Given the description of an element on the screen output the (x, y) to click on. 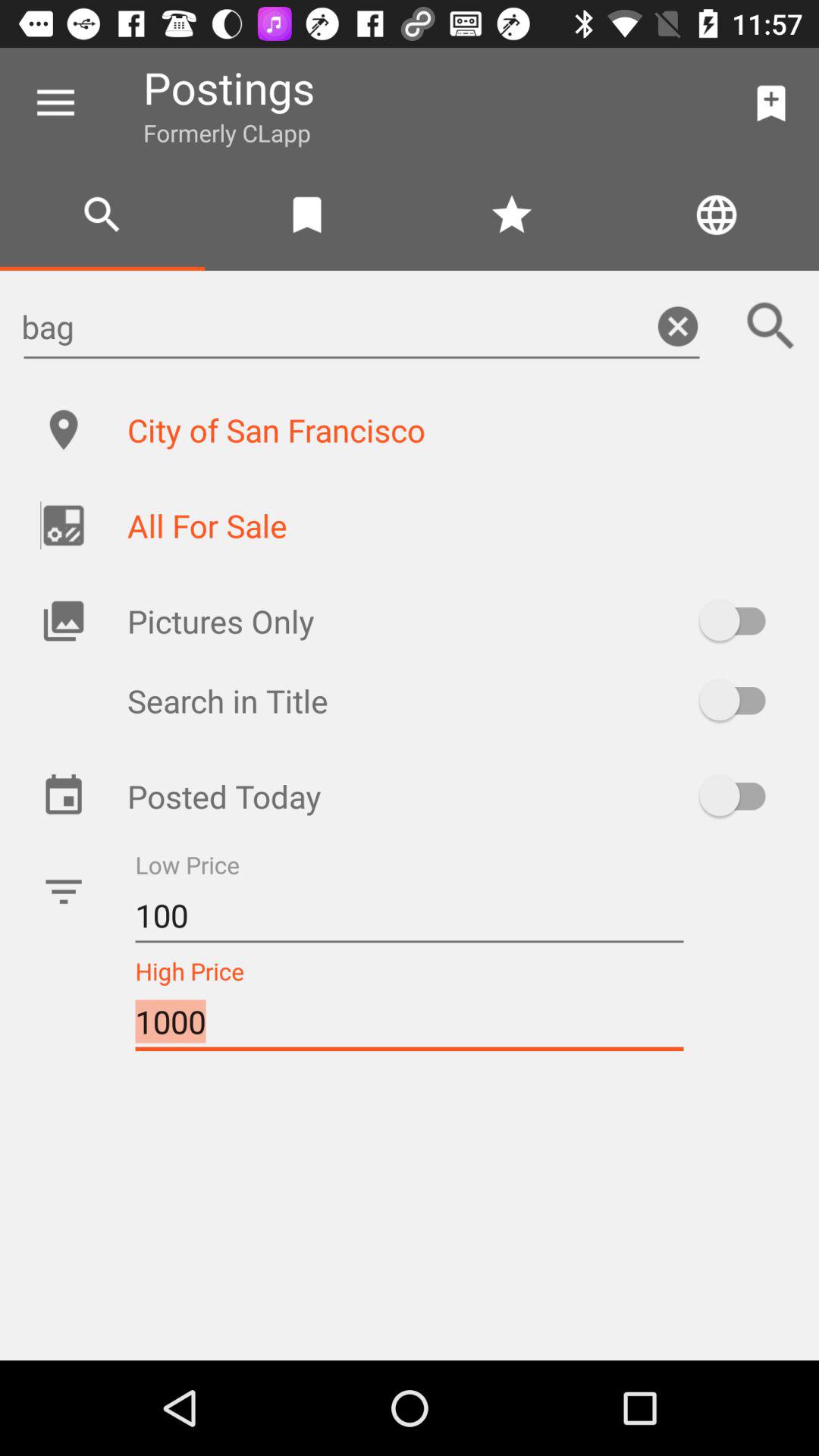
press the icon above 1000 item (409, 915)
